Given the description of an element on the screen output the (x, y) to click on. 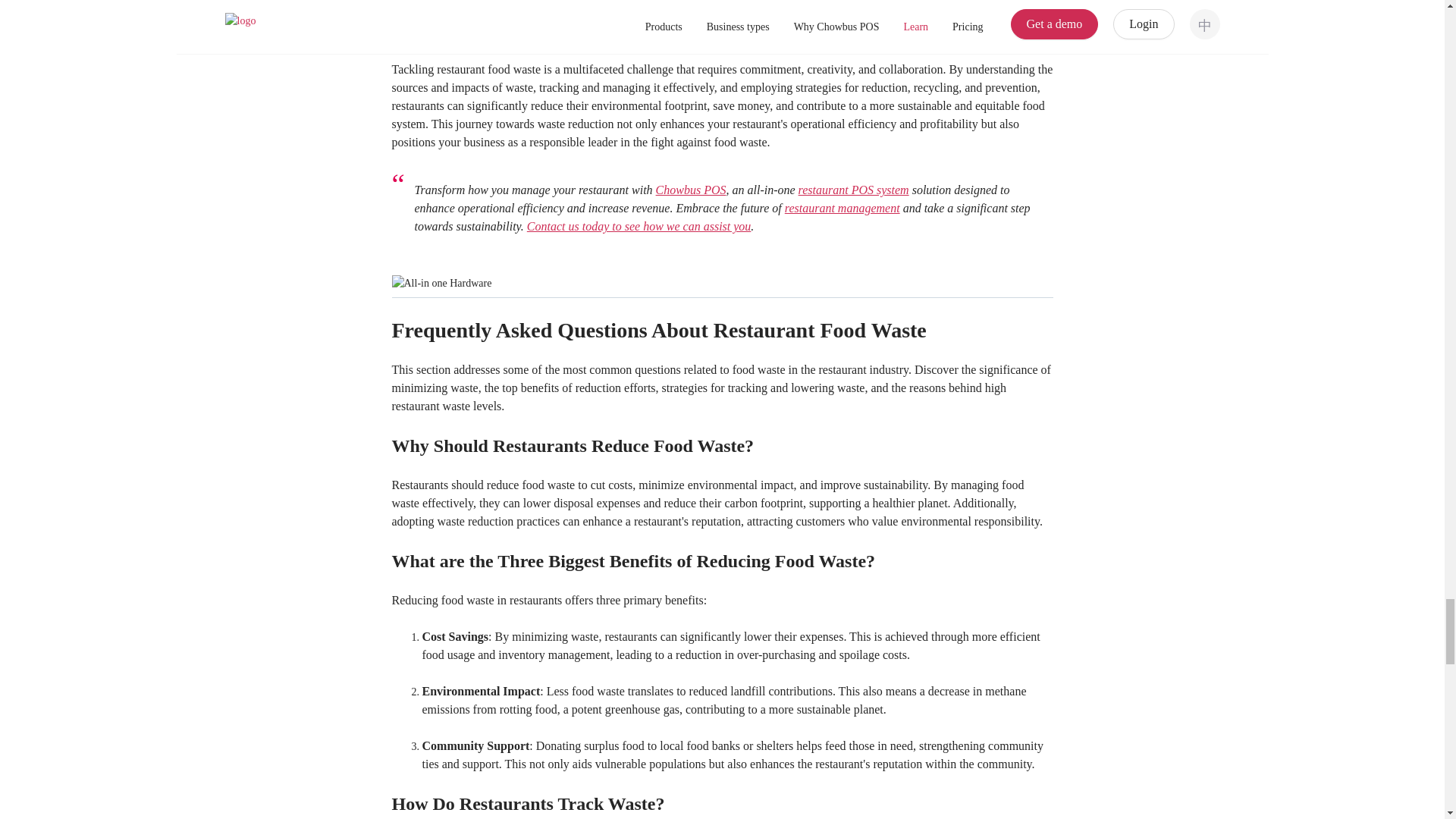
restaurant management (841, 207)
restaurant POS system (852, 189)
Chowbus POS (691, 189)
Contact us today to see how we can assist you (639, 226)
